Given the description of an element on the screen output the (x, y) to click on. 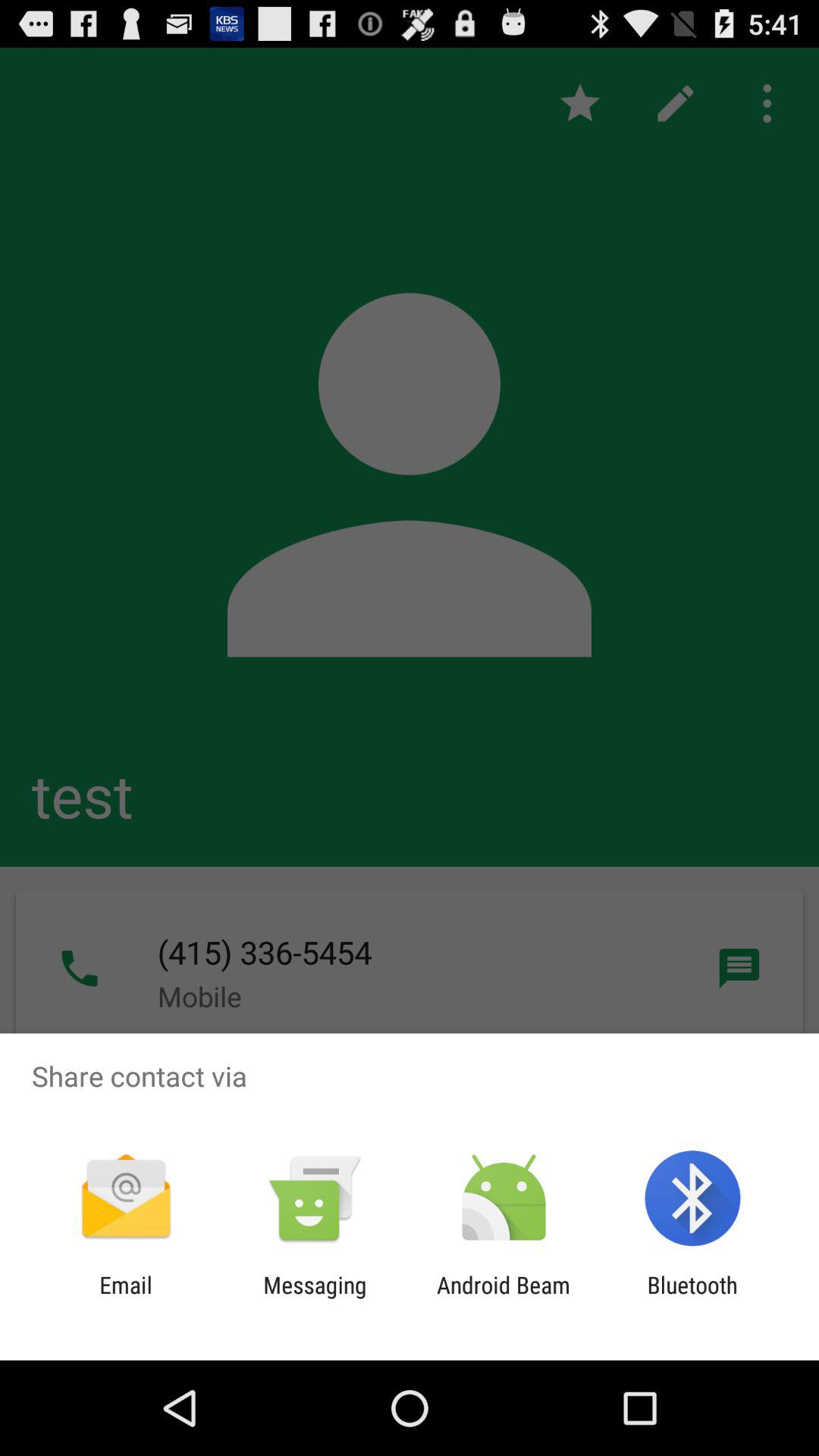
click the app to the right of the android beam app (692, 1298)
